Given the description of an element on the screen output the (x, y) to click on. 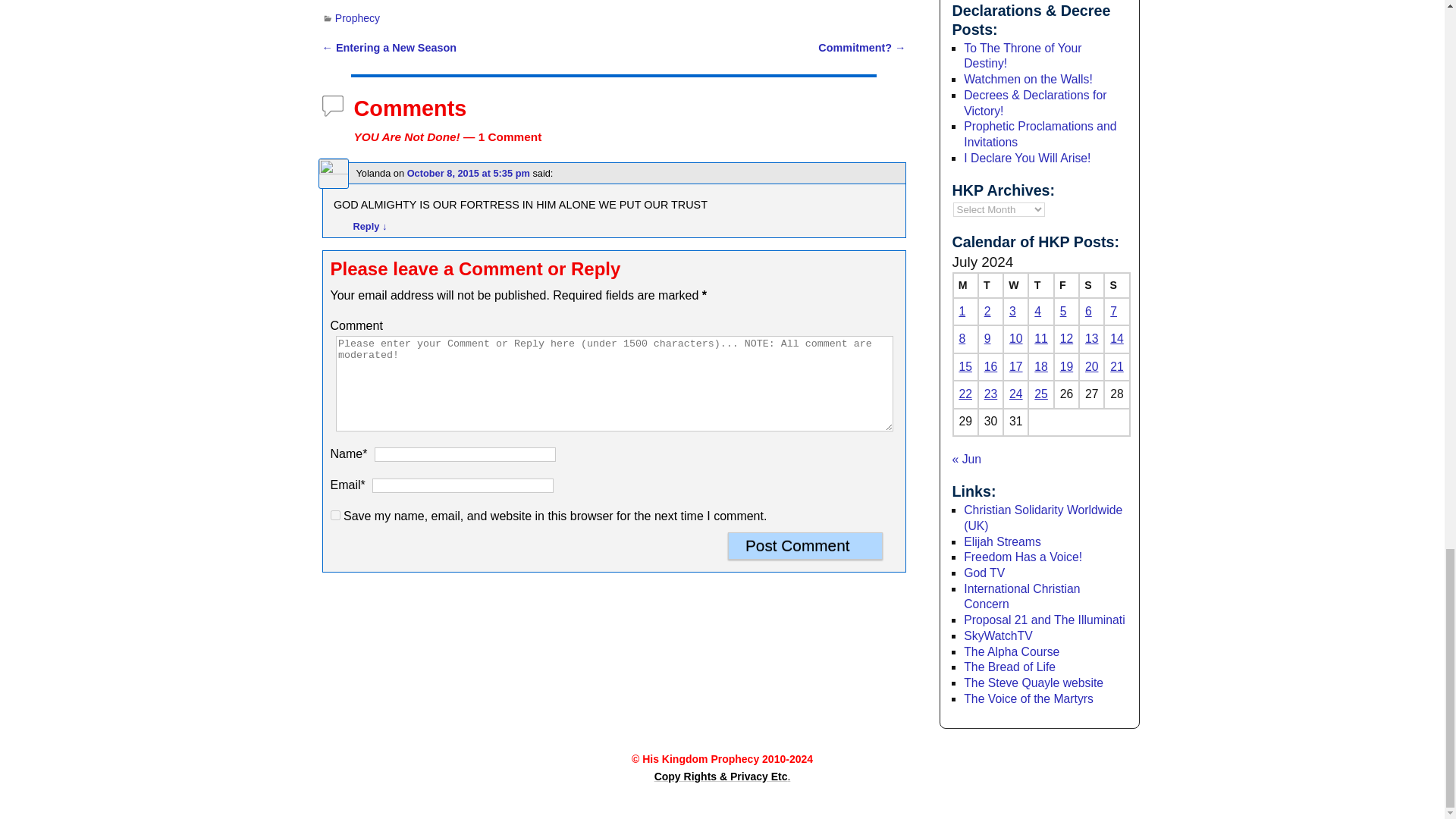
Post Comment (805, 545)
Tuesday (990, 285)
Wednesday (1015, 285)
Thursday (1039, 285)
Monday (964, 285)
Saturday (1090, 285)
yes (335, 515)
Friday (1066, 285)
